Given the description of an element on the screen output the (x, y) to click on. 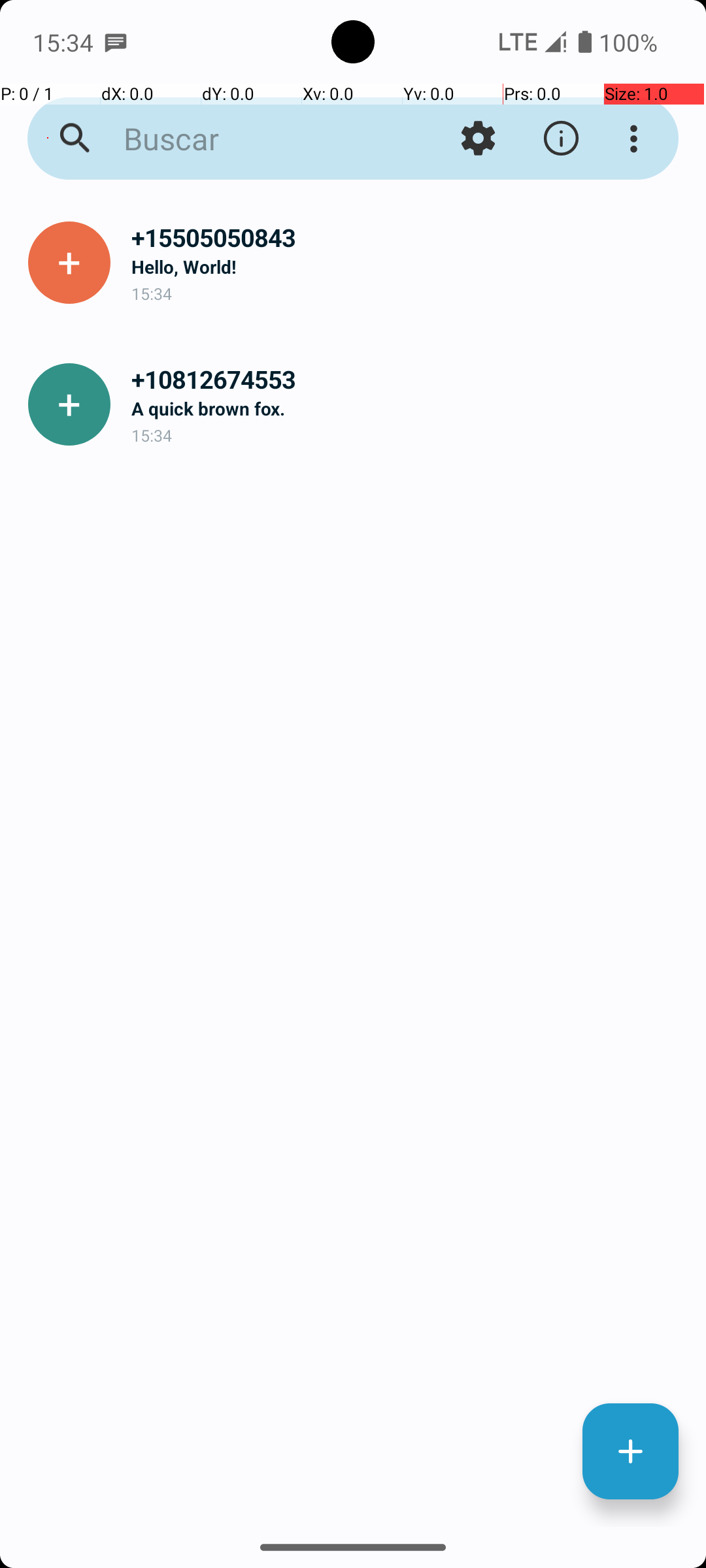
Acerca de Element type: android.widget.Button (560, 138)
+15505050843 Element type: android.widget.TextView (408, 237)
Hello, World! Element type: android.widget.TextView (408, 266)
+10812674553 Element type: android.widget.TextView (408, 378)
A quick brown fox. Element type: android.widget.TextView (408, 407)
